Given the description of an element on the screen output the (x, y) to click on. 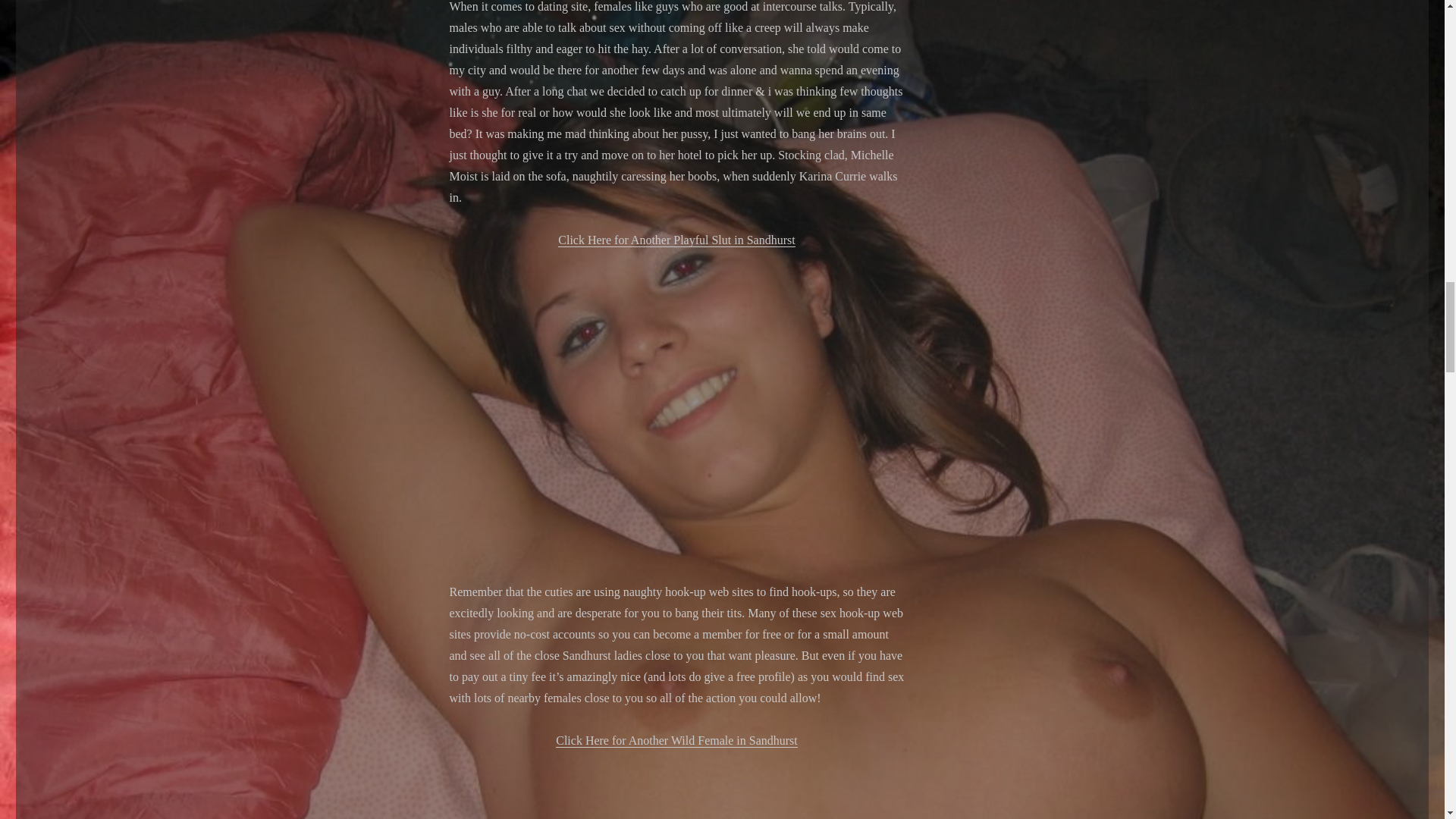
Casual Sex (676, 394)
Sex Hook-Ups (676, 785)
Click Here for Another Wild Female in Sandhurst (676, 739)
Click Here for Another Playful Slut in Sandhurst (675, 239)
